Given the description of an element on the screen output the (x, y) to click on. 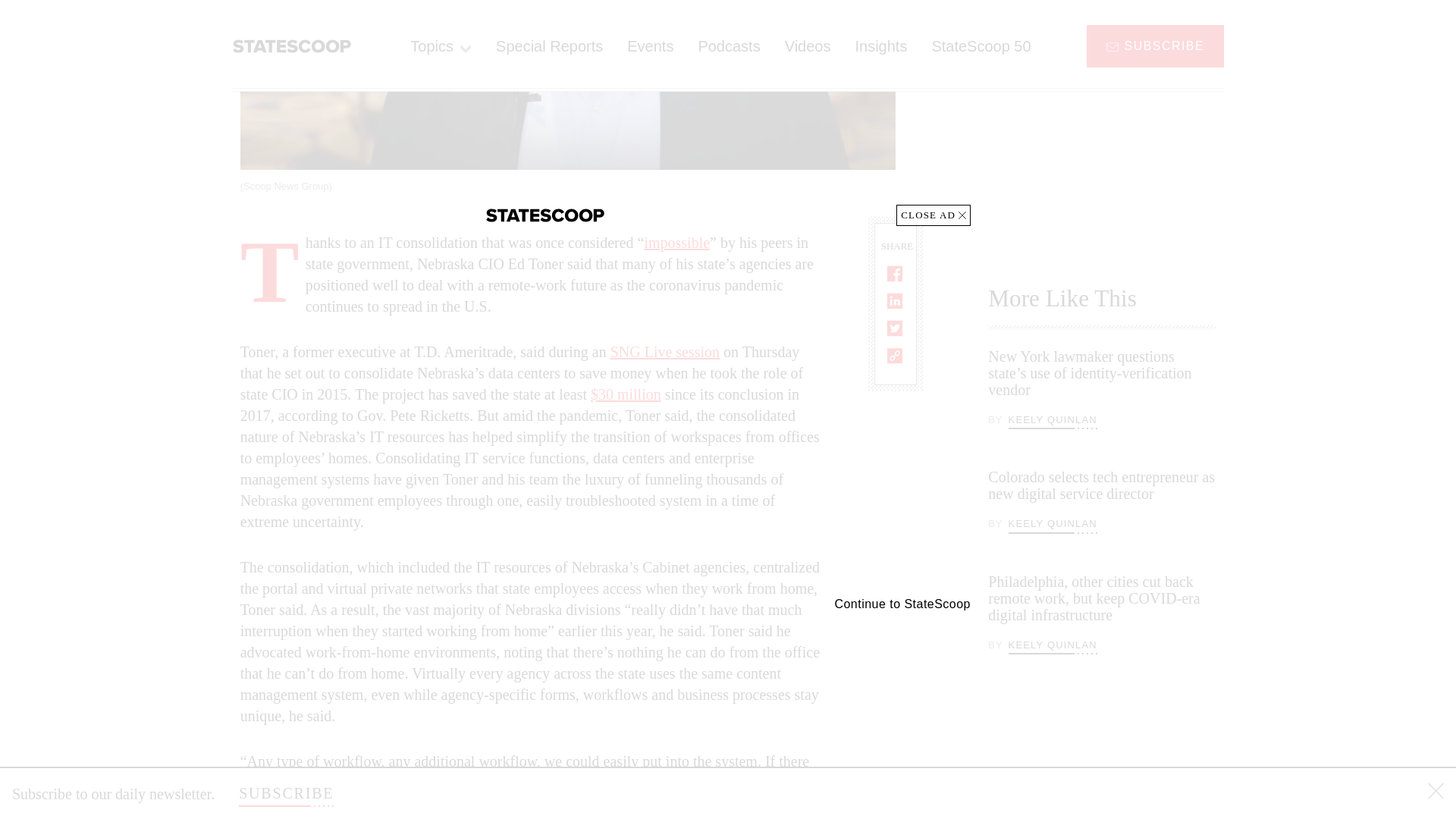
3rd party ad content (1101, 123)
